Given the description of an element on the screen output the (x, y) to click on. 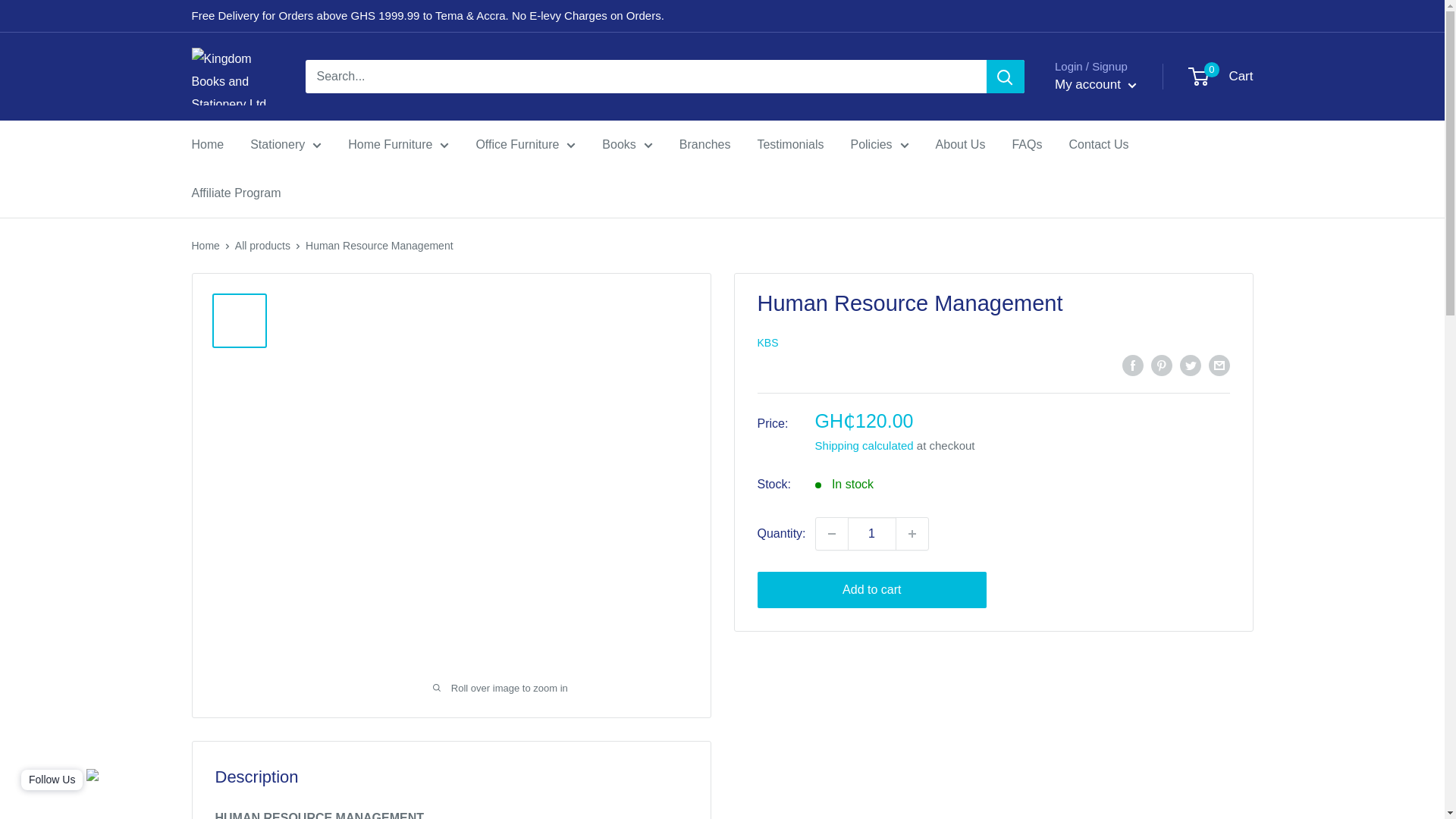
Decrease quantity by 1 (831, 533)
Increase quantity by 1 (912, 533)
1 (871, 533)
